Given the description of an element on the screen output the (x, y) to click on. 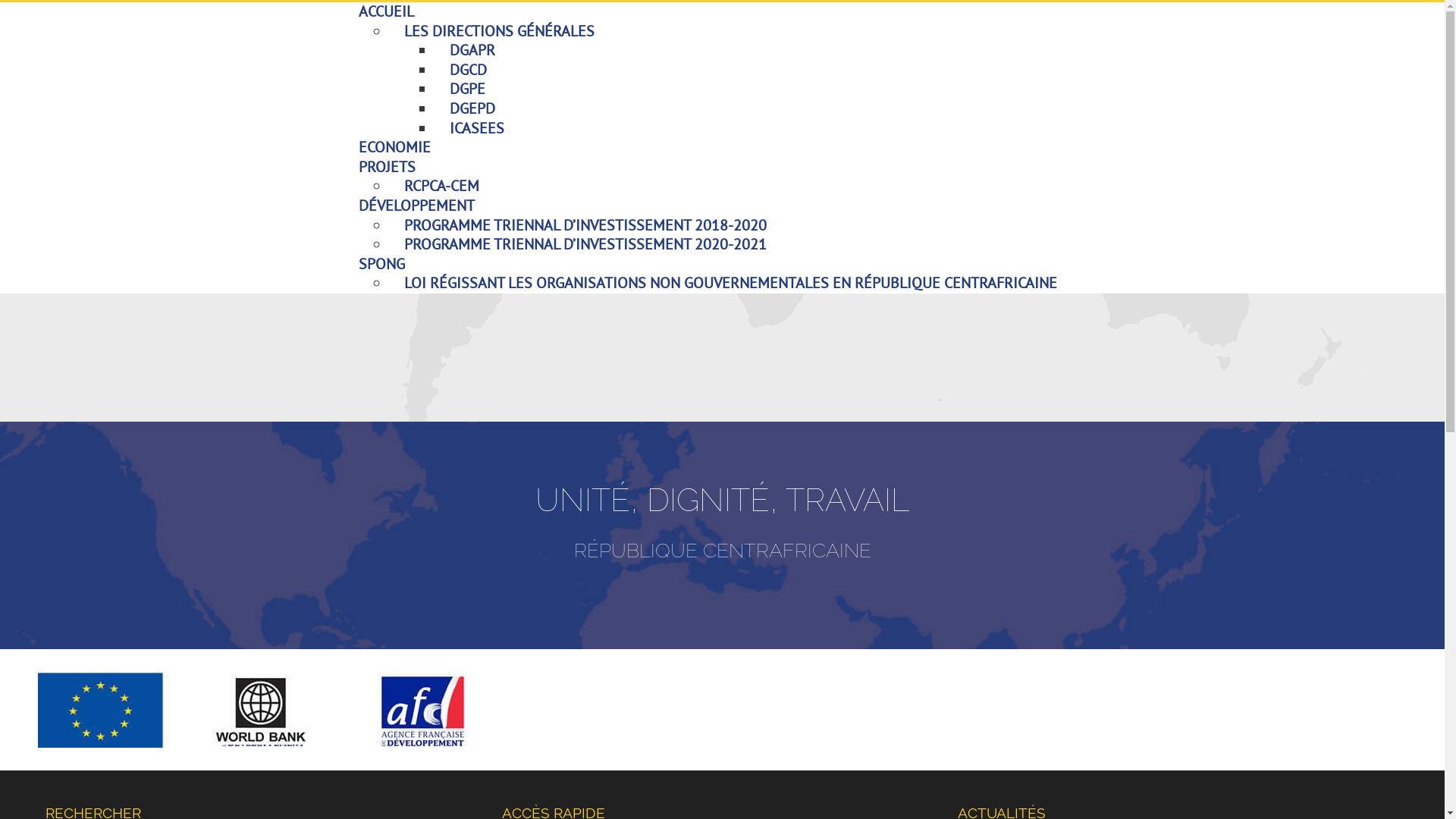
DGCD Element type: text (467, 69)
SPONG Element type: text (380, 263)
ACCUEIL Element type: text (385, 11)
RCPCA-CEM Element type: text (440, 185)
DGEPD Element type: text (471, 108)
PROJETS Element type: text (385, 166)
DGAPR Element type: text (471, 49)
ICASEES Element type: text (475, 128)
DGPE Element type: text (466, 88)
ECONOMIE Element type: text (393, 146)
